Given the description of an element on the screen output the (x, y) to click on. 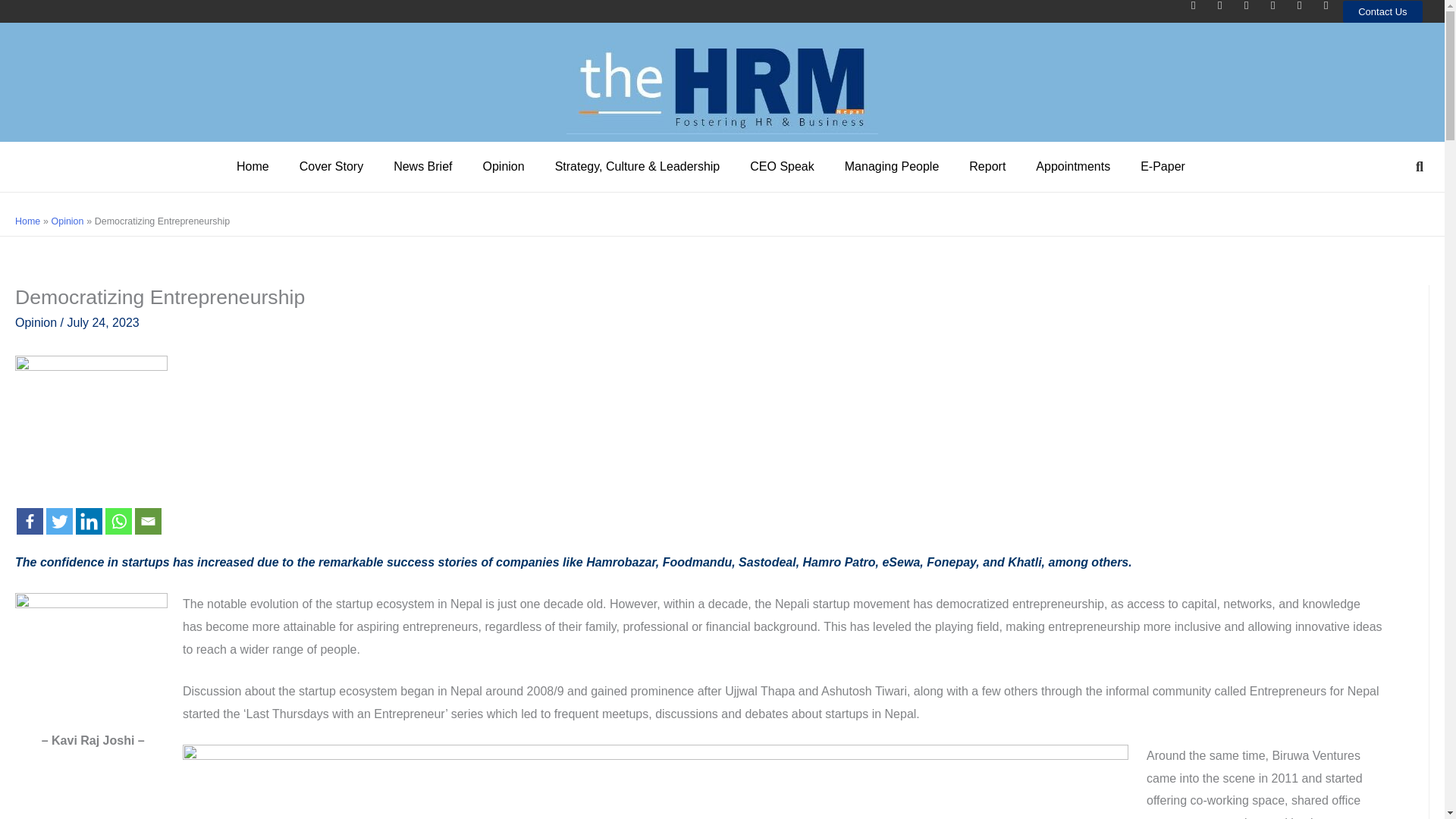
Email (148, 520)
News Brief (422, 166)
Facebook (29, 520)
Contact Us (1382, 11)
Whatsapp (118, 520)
Managing People (892, 166)
Cover Story (330, 166)
E-Paper (1162, 166)
Twitter (59, 520)
Home (252, 166)
